Given the description of an element on the screen output the (x, y) to click on. 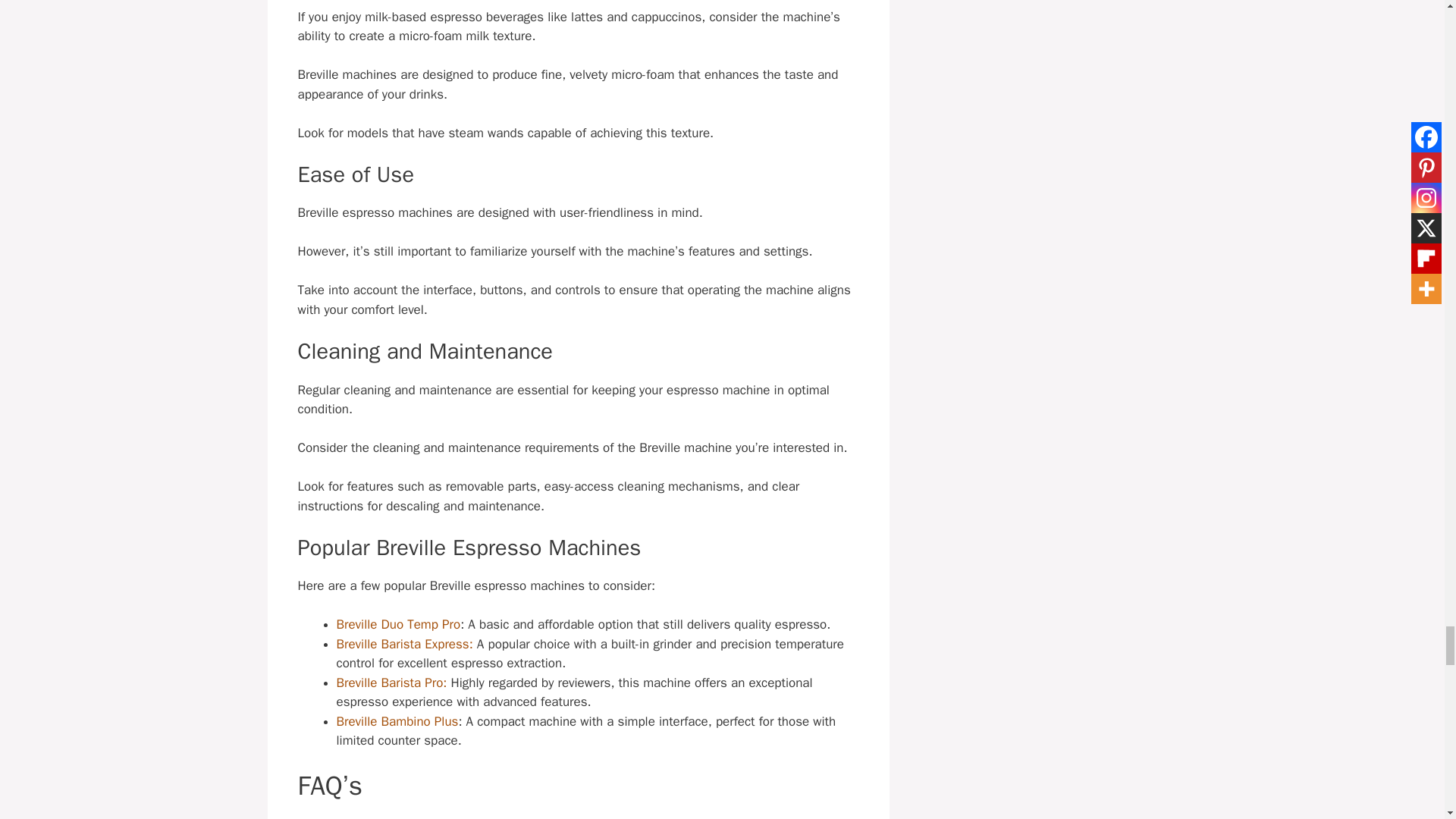
Breville Barista Express: (404, 643)
Breville Bambino Plus (397, 721)
Breville Barista Pro: (391, 682)
Breville Duo Temp Pro (398, 624)
